Given the description of an element on the screen output the (x, y) to click on. 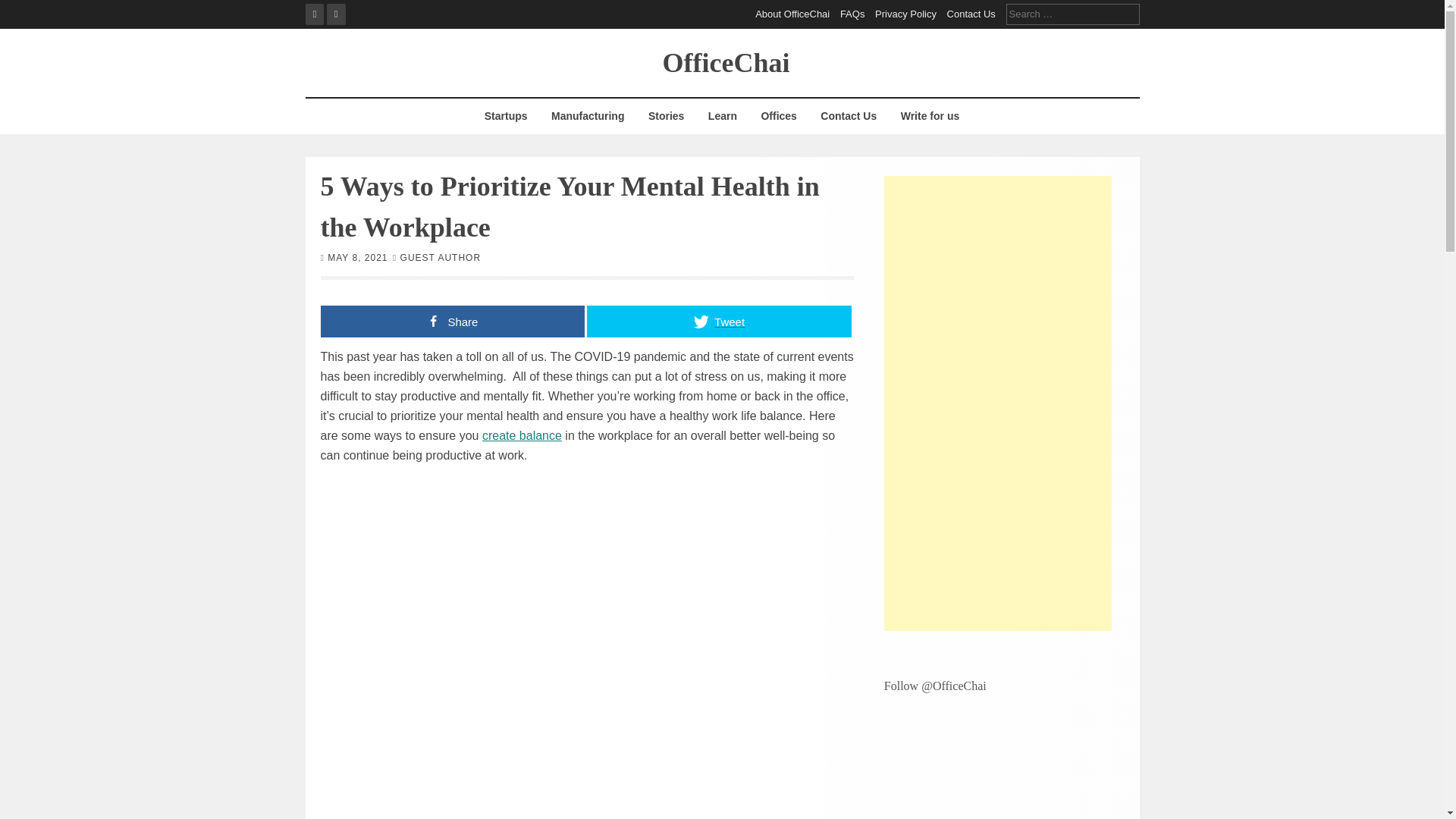
Contact Us (848, 116)
Privacy Policy (905, 13)
MAY 8, 2021 (357, 256)
Offices (778, 116)
Write for us (930, 116)
Startups (505, 116)
Stories (666, 116)
GUEST AUTHOR (440, 256)
Tweet (718, 320)
